Given the description of an element on the screen output the (x, y) to click on. 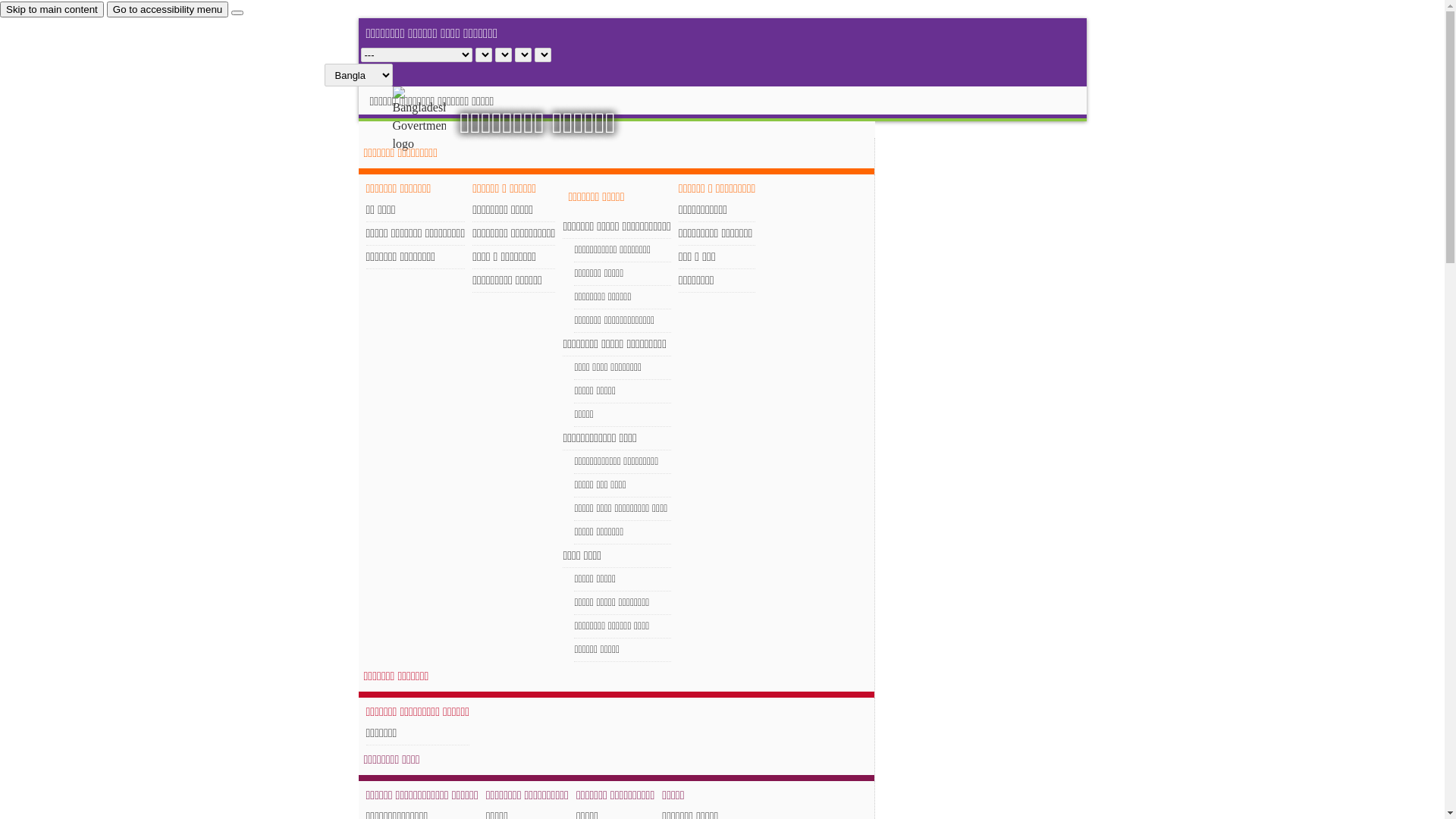
Go to accessibility menu Element type: text (167, 9)

                
             Element type: hover (431, 119)
Skip to main content Element type: text (51, 9)
close Element type: hover (237, 12)
